Given the description of an element on the screen output the (x, y) to click on. 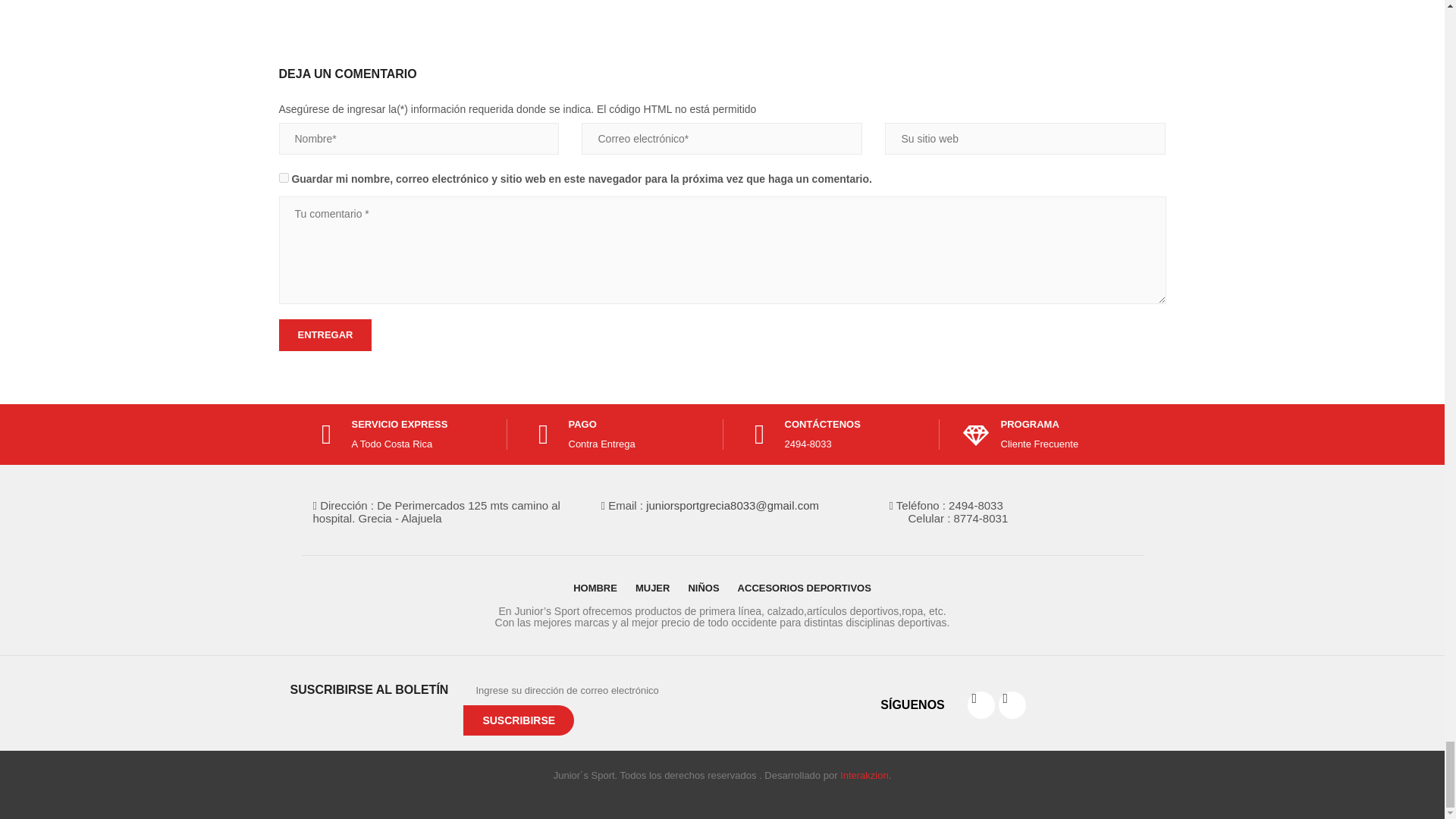
Entregar (325, 335)
suscribirse (518, 720)
yes (283, 177)
